Given the description of an element on the screen output the (x, y) to click on. 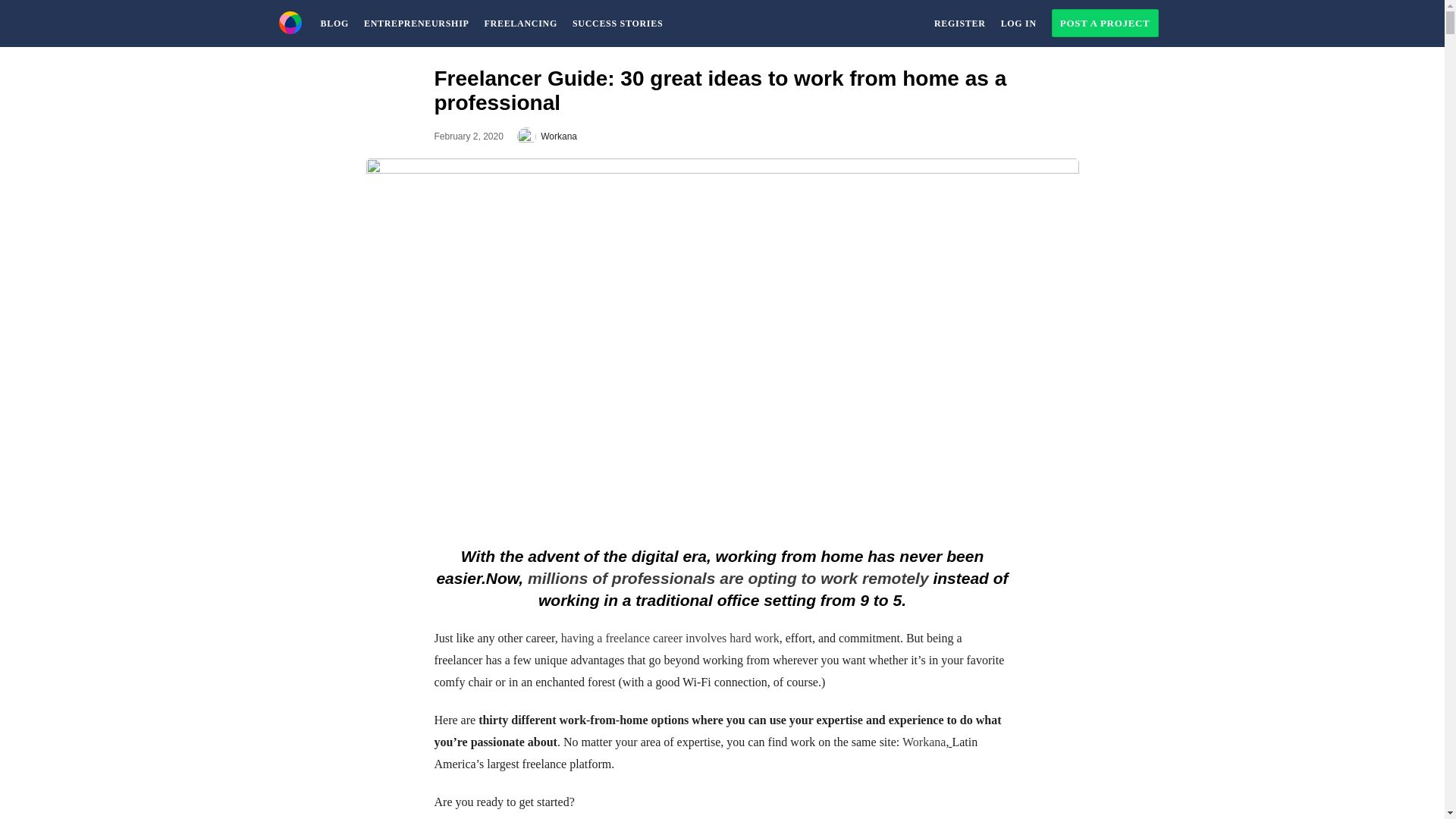
LOG IN (1017, 22)
FREELANCING (520, 22)
ENTREPRENEURSHIP (416, 22)
BLOG (334, 22)
POST A PROJECT (1104, 22)
SUCCESS STORIES (616, 22)
REGISTER (959, 22)
Home (289, 18)
